Given the description of an element on the screen output the (x, y) to click on. 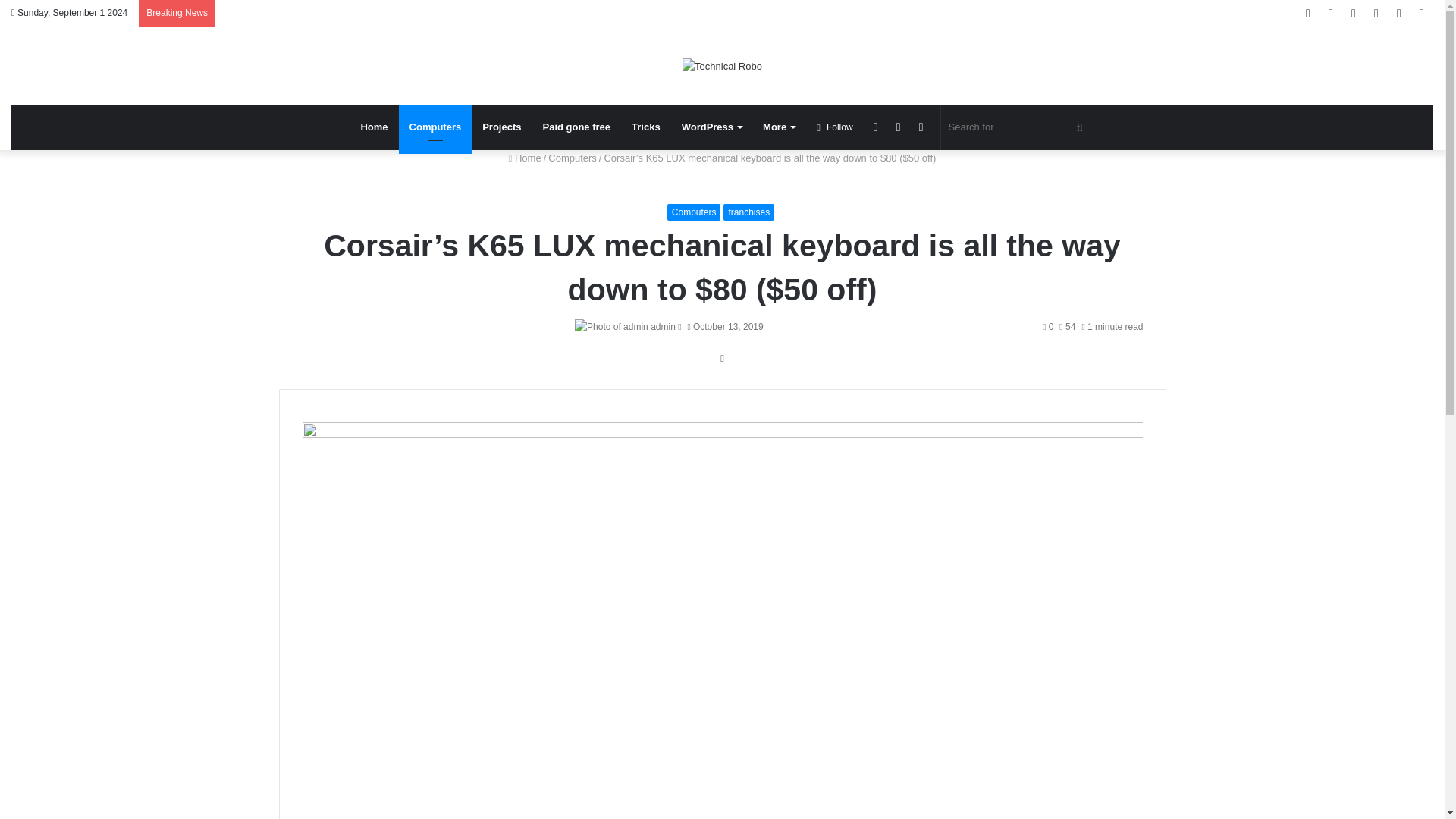
Tricks (646, 126)
WordPress (711, 126)
More (778, 126)
Search for (1017, 126)
Follow (834, 126)
Home (373, 126)
admin (662, 326)
Paid gone free (576, 126)
Projects (501, 126)
Technical Robo (721, 65)
